Given the description of an element on the screen output the (x, y) to click on. 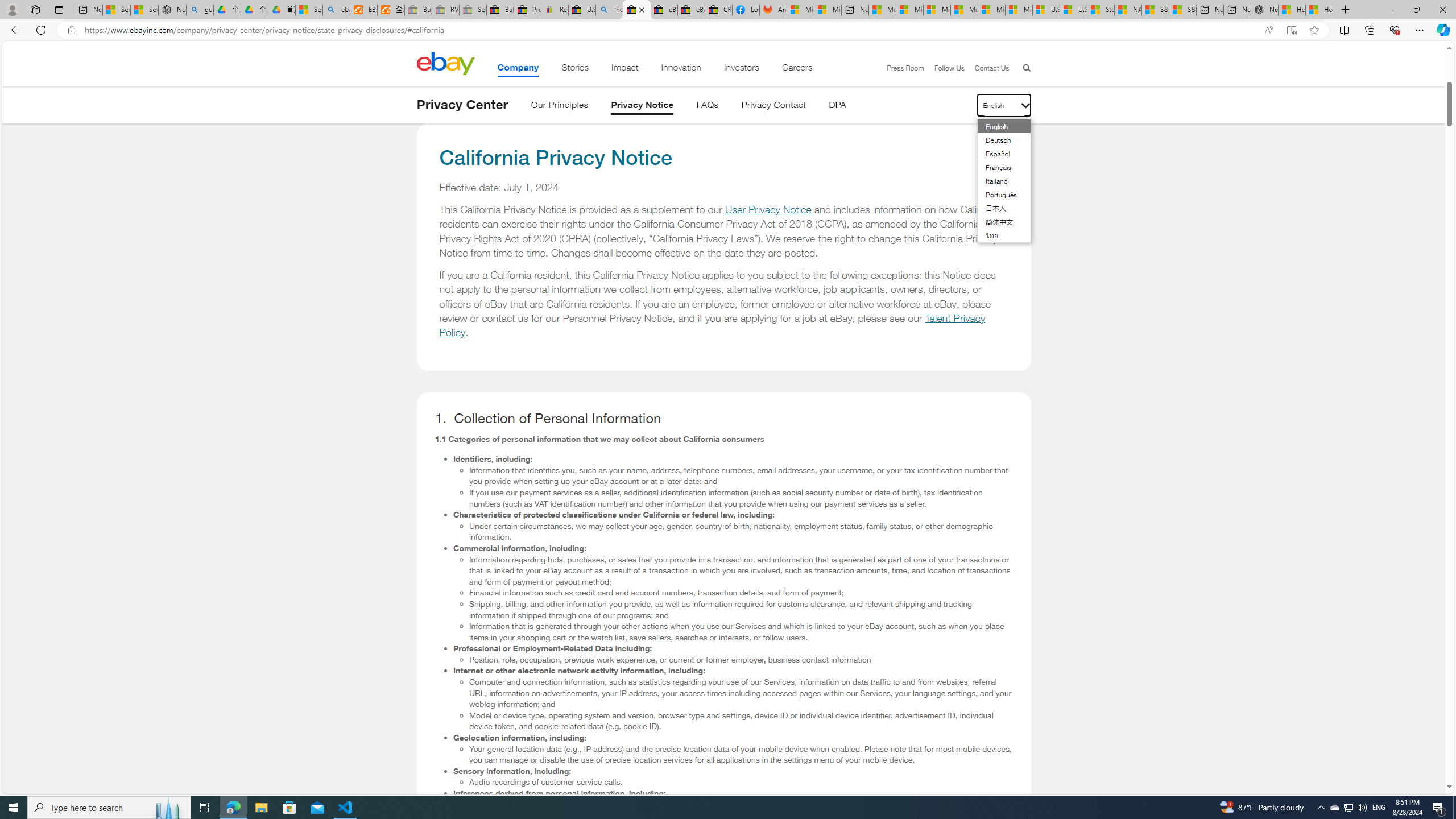
Microsoft account | Privacy (909, 9)
FAQs (707, 107)
Personal Profile (12, 9)
Deutsch (996, 139)
Privacy Center (462, 104)
eBay Inc. Reports Third Quarter 2023 Results (691, 9)
